Given the description of an element on the screen output the (x, y) to click on. 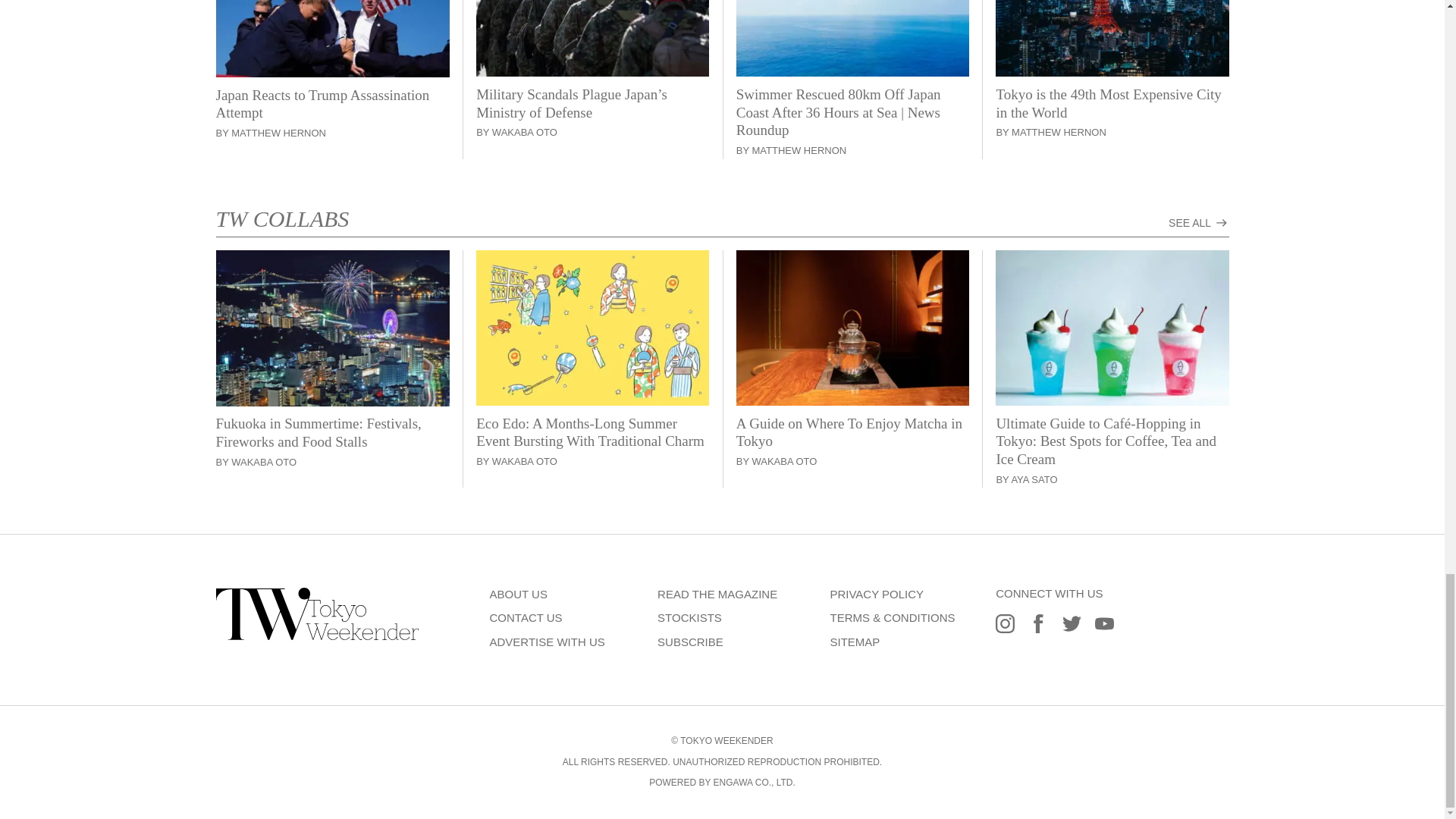
Tokyo Weekender (317, 635)
